Given the description of an element on the screen output the (x, y) to click on. 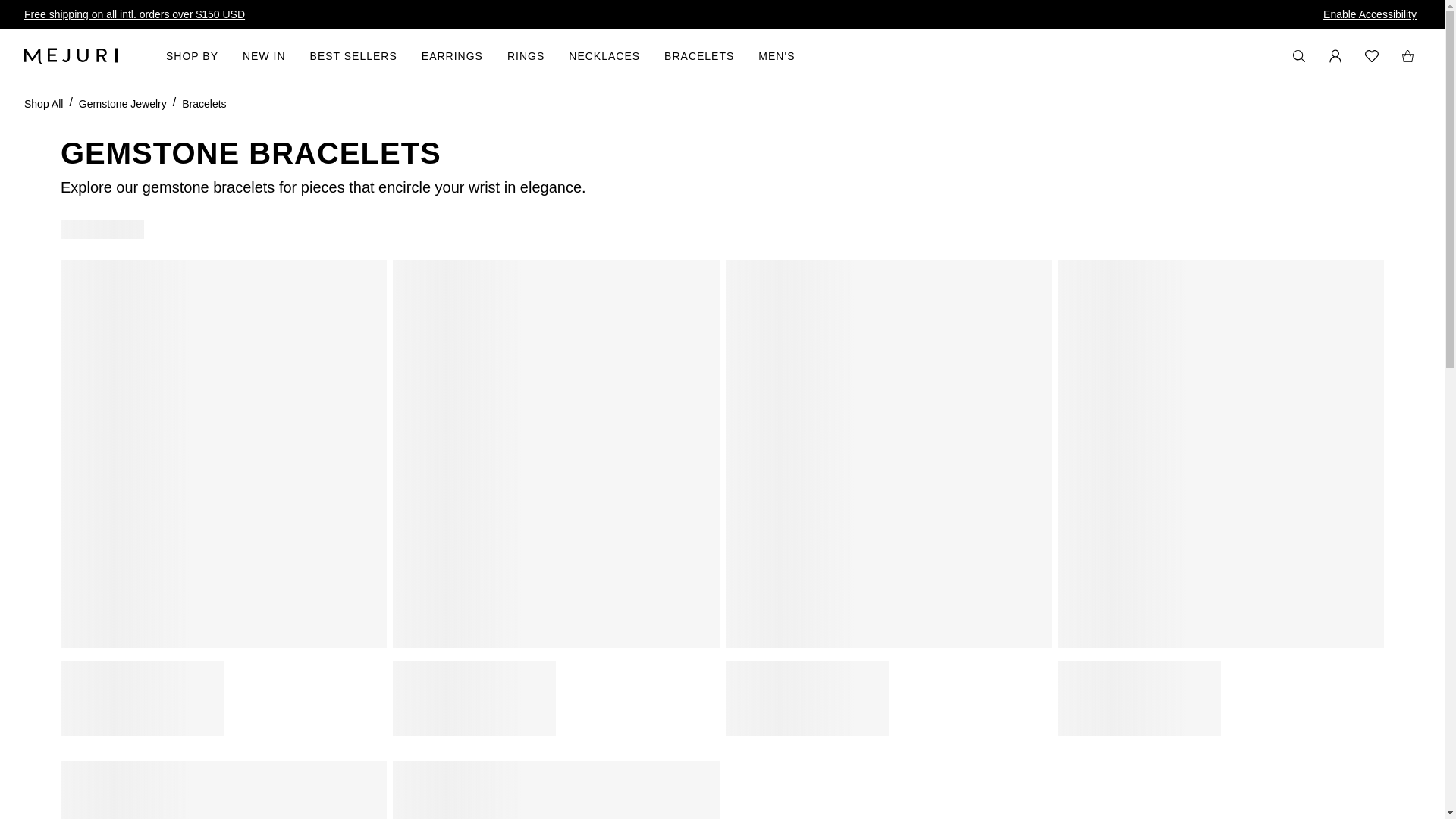
BEST SELLERS (353, 54)
Shop All (43, 103)
Enable Accessibility (1370, 14)
NEW IN (264, 54)
MEN'S (776, 54)
SHOP BY (191, 54)
RINGS (525, 54)
NECKLACES (604, 54)
Bracelets (203, 103)
Gemstone Jewelry (122, 103)
